Given the description of an element on the screen output the (x, y) to click on. 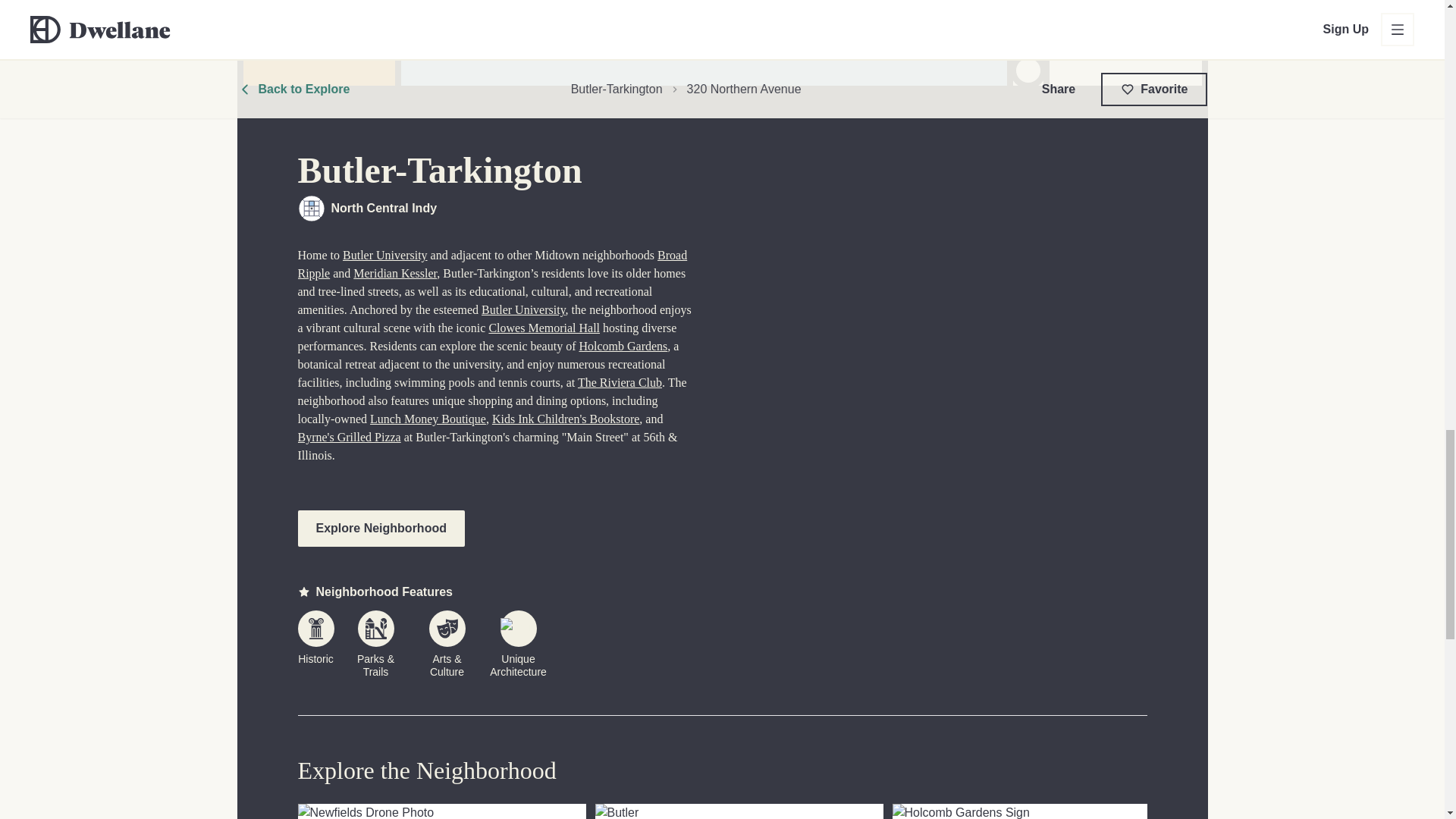
The Riviera Club (620, 382)
Meridian Kessler (394, 273)
Holcomb Gardens (622, 345)
Broad Ripple (492, 264)
Butler University (1035, 811)
Lunch Money Boutique (523, 309)
Clowes Memorial Hall (427, 418)
Kids Ink Children's Bookstore (543, 327)
Explore Neighborhood (565, 418)
